Given the description of an element on the screen output the (x, y) to click on. 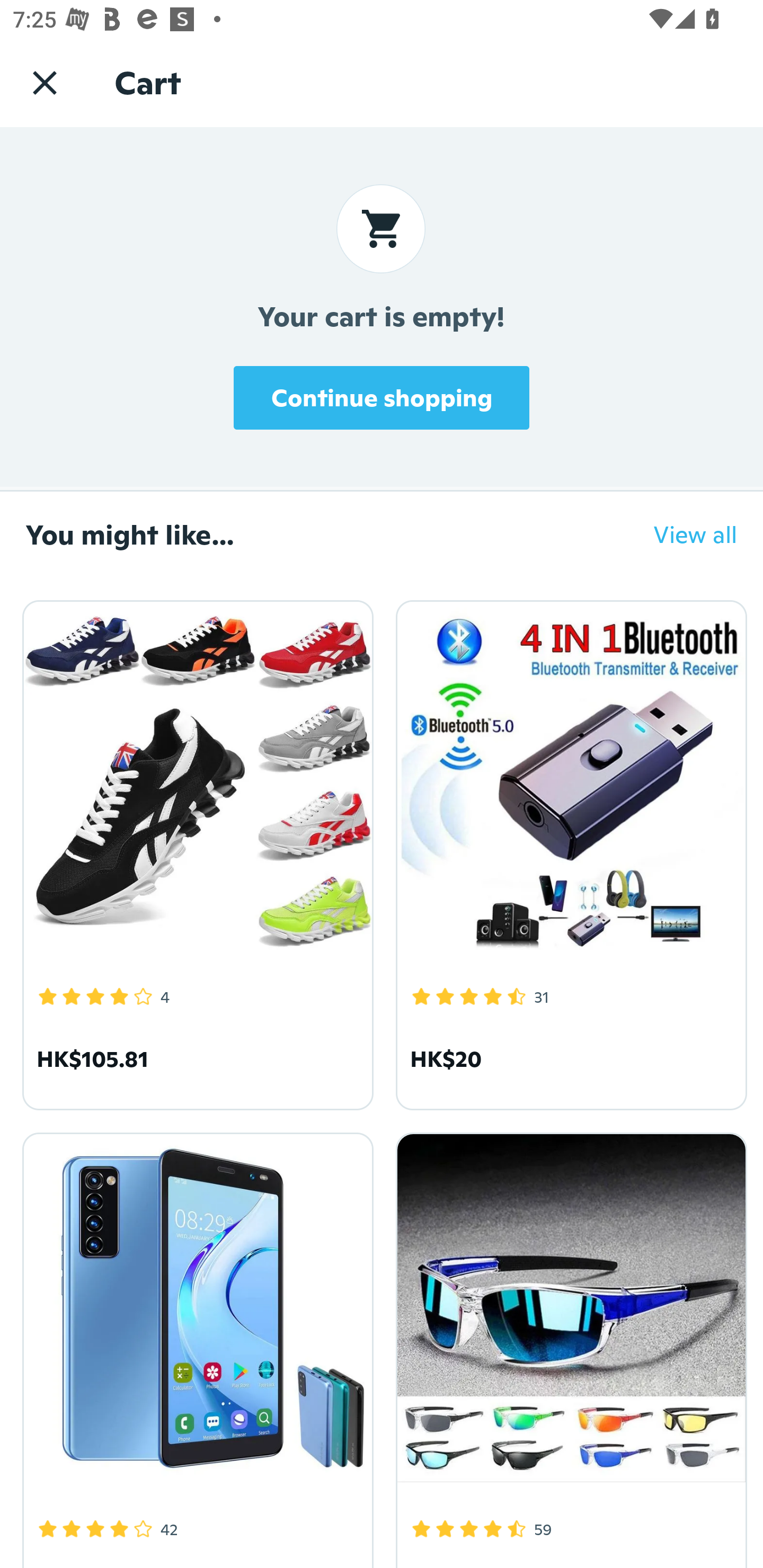
Navigate up (44, 82)
Continue shopping (381, 397)
View all (682, 534)
4 Star Rating 4 HK$105.81 (194, 852)
4.5 Star Rating 31 HK$20 (567, 852)
3.8 Star Rating 42 (194, 1346)
4.4 Star Rating 59 (567, 1346)
